Given the description of an element on the screen output the (x, y) to click on. 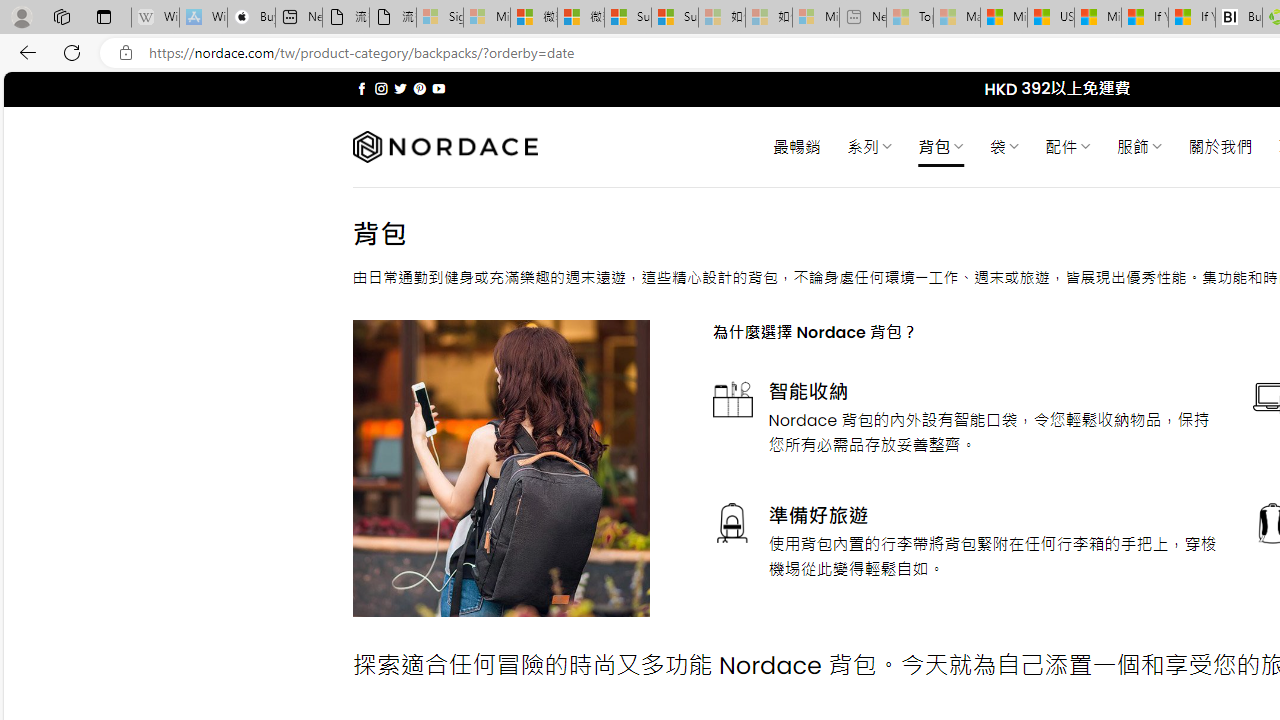
Top Stories - MSN - Sleeping (910, 17)
Wikipedia - Sleeping (155, 17)
Personal Profile (21, 16)
Follow on Pinterest (419, 88)
Microsoft Start (1098, 17)
